Given the description of an element on the screen output the (x, y) to click on. 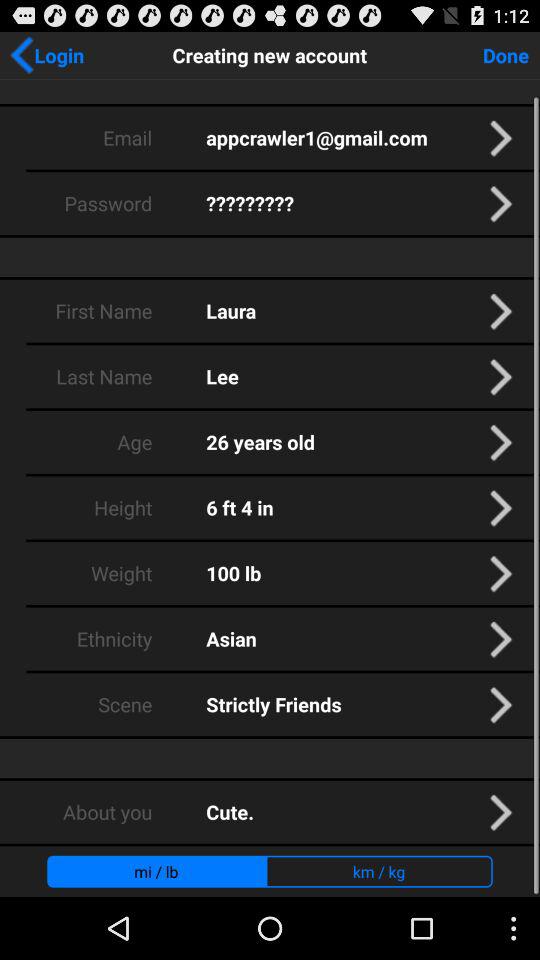
turn on the login app (46, 55)
